Given the description of an element on the screen output the (x, y) to click on. 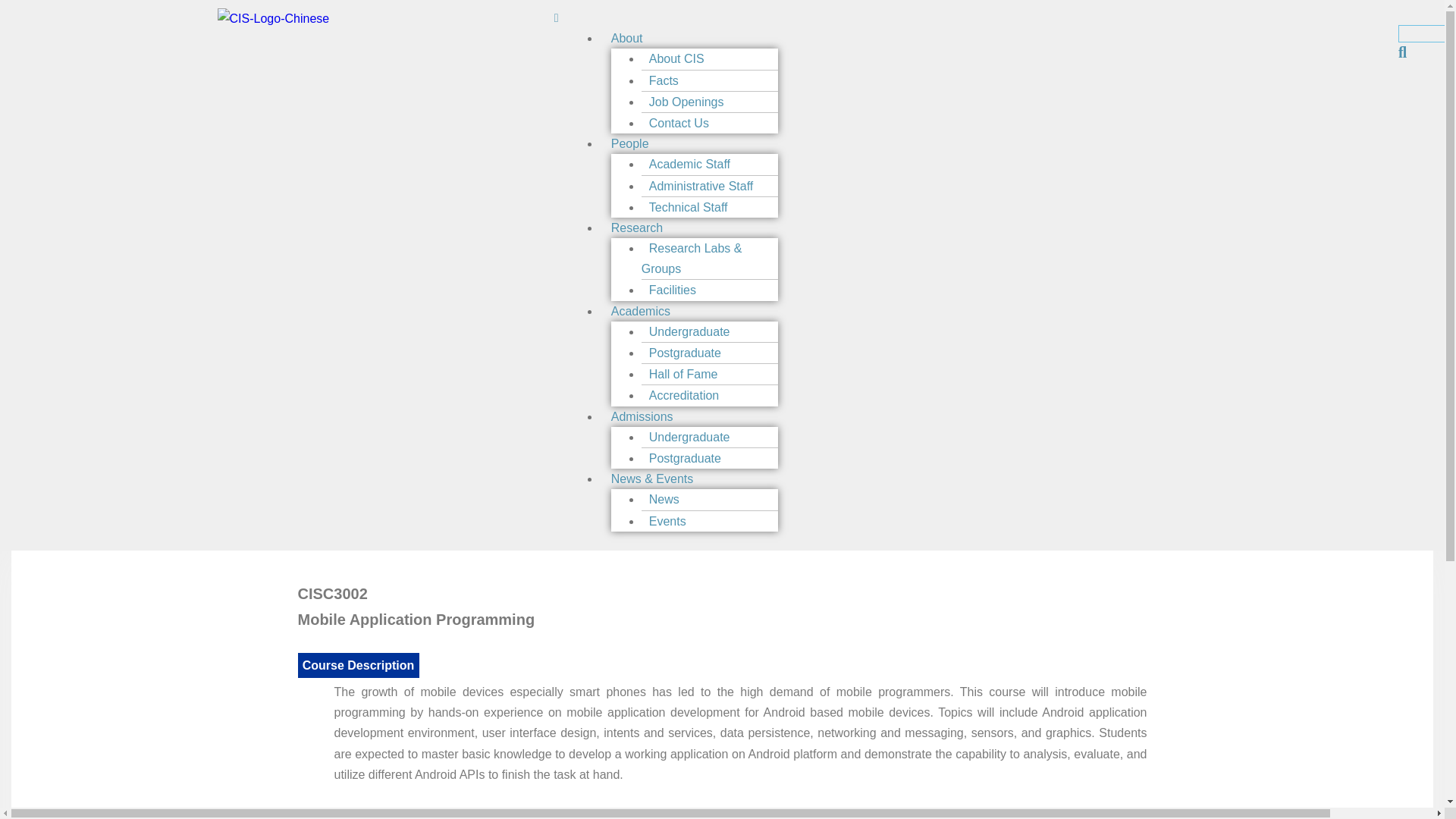
People (630, 143)
Postgraduate (685, 352)
Research (636, 227)
Administrative Staff (701, 185)
Undergraduate (690, 331)
Undergraduate (690, 437)
Contact Us (679, 122)
Academics (640, 311)
Academic Staff (690, 163)
Technical Staff (688, 207)
